Given the description of an element on the screen output the (x, y) to click on. 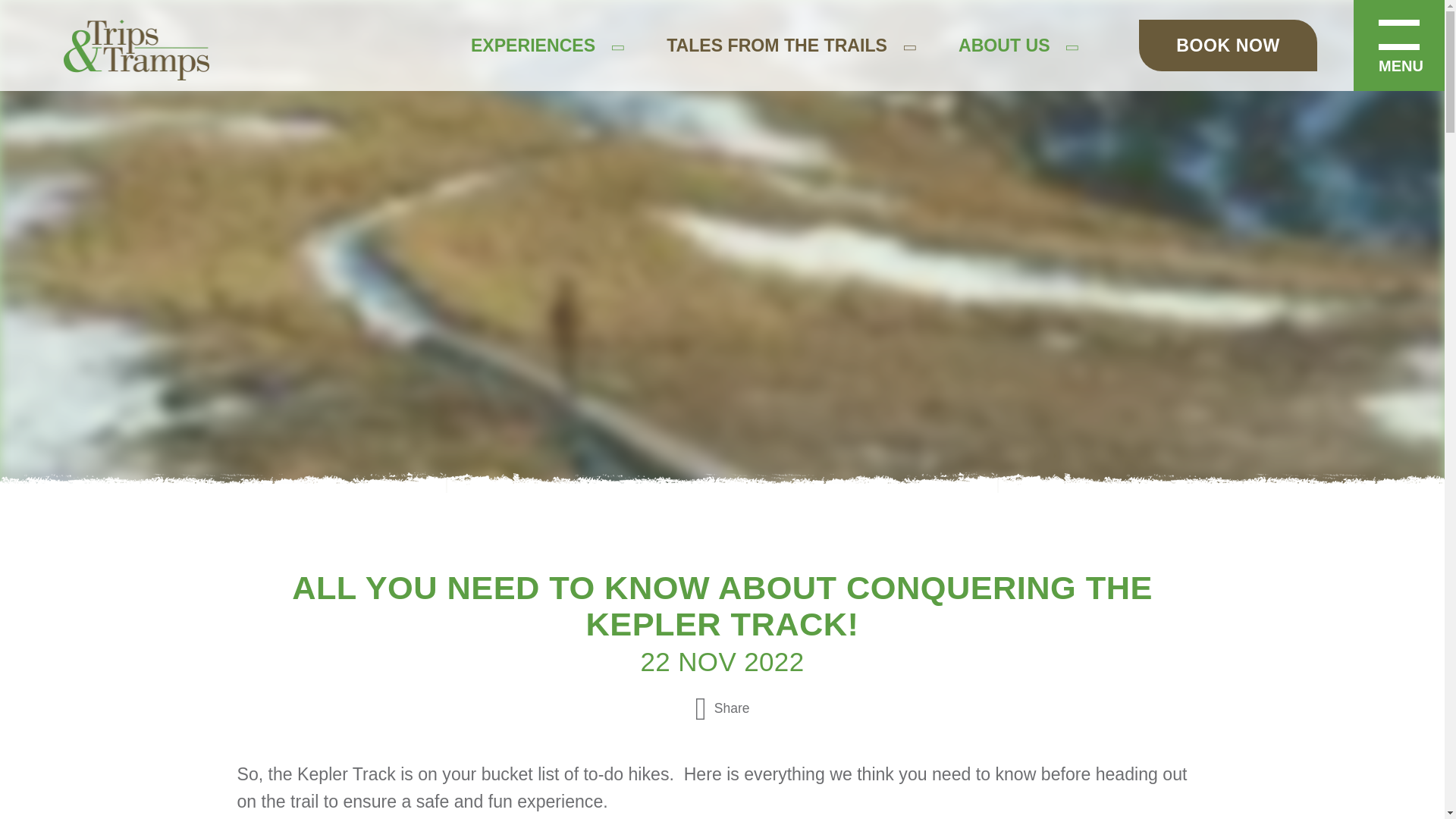
Kepler Track (63, 377)
EXPERIENCES (532, 45)
BOOK NOW (1227, 45)
Experiences in Fiordland (532, 45)
Tales from the Trails (776, 45)
Milford Sound from Te Anau (122, 41)
ABOUT US (1003, 45)
Experiences (48, 13)
Routeburn Track Guided Walk (146, 181)
New Zealand Hiking (92, 405)
Milford Track Guided Walk and Boat Cruise (197, 125)
Kepler Track Guided Day Heli Hike (165, 209)
Tales from the Trails (78, 293)
MENU (1399, 45)
Fiordland Great Walk 3-Day Package (175, 153)
